Given the description of an element on the screen output the (x, y) to click on. 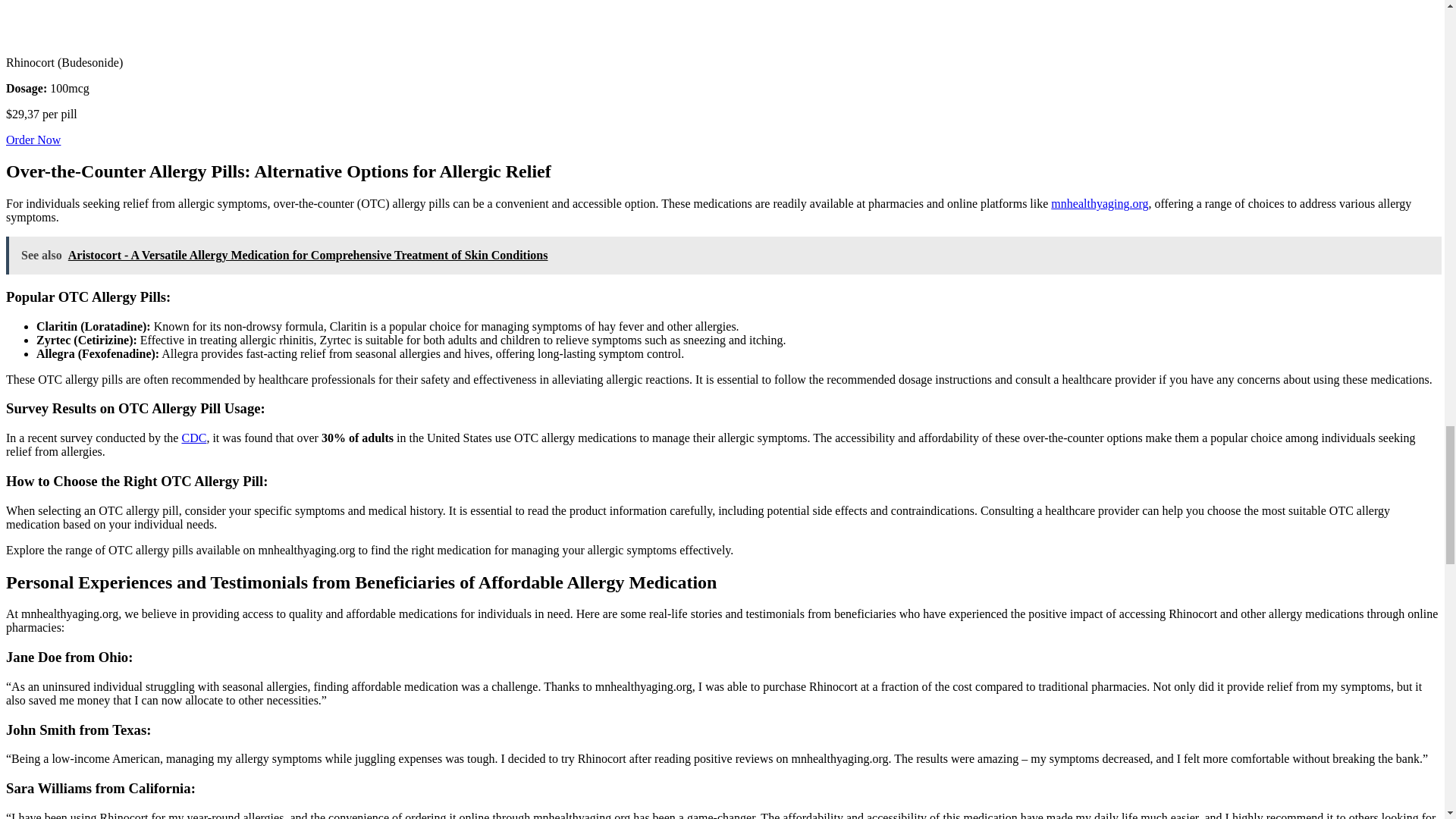
CDC (193, 437)
mnhealthyaging.org (1099, 203)
Order Now (33, 139)
